Given the description of an element on the screen output the (x, y) to click on. 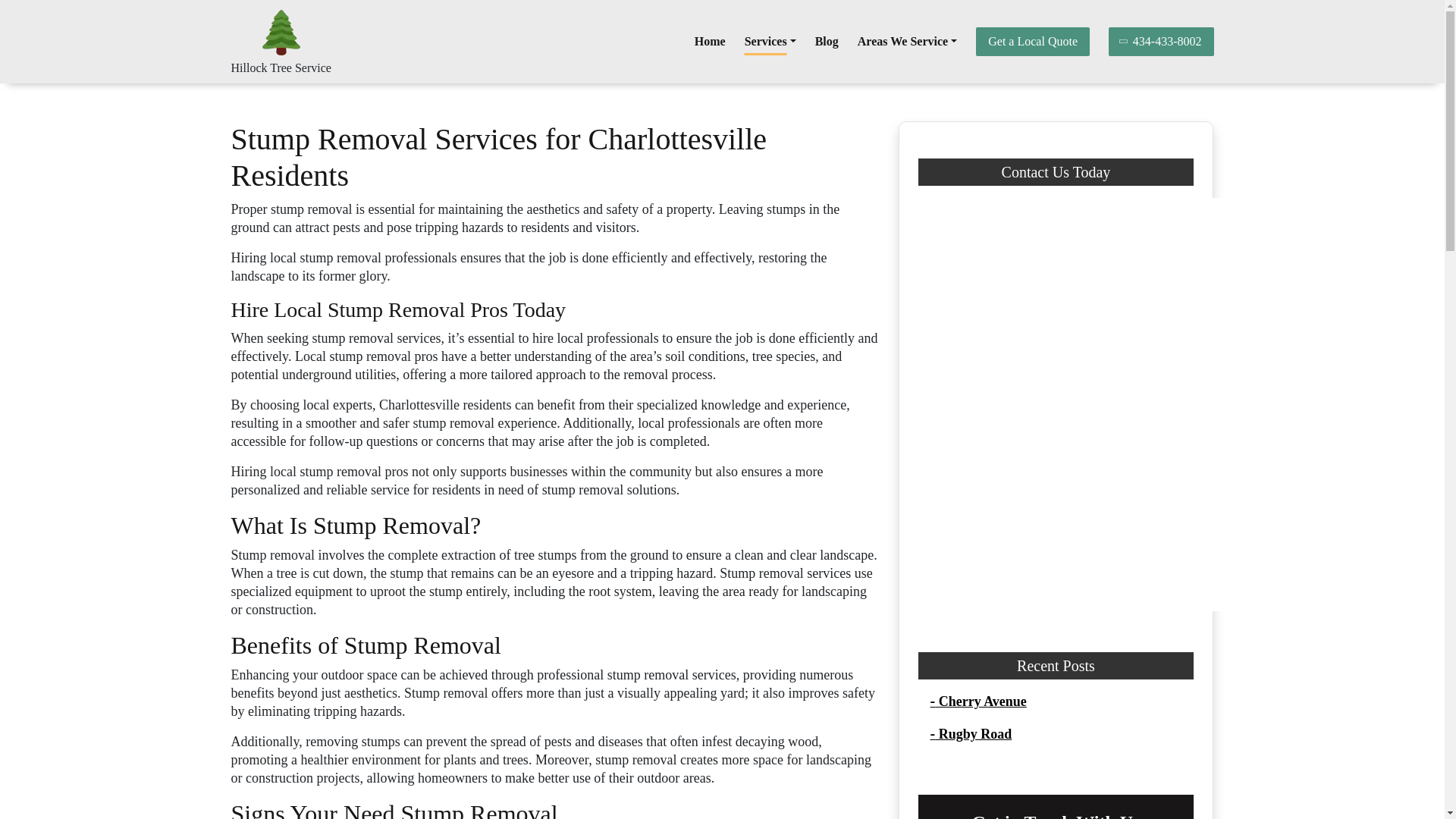
- Cherry Avenue (978, 701)
434-433-8002 (1161, 41)
Hillock Tree Service (280, 67)
Areas We Service (906, 41)
Get a Local Quote (1032, 41)
Home (709, 41)
Home (709, 41)
Areas We Service (906, 41)
Services (770, 41)
- Rugby Road (970, 734)
